Given the description of an element on the screen output the (x, y) to click on. 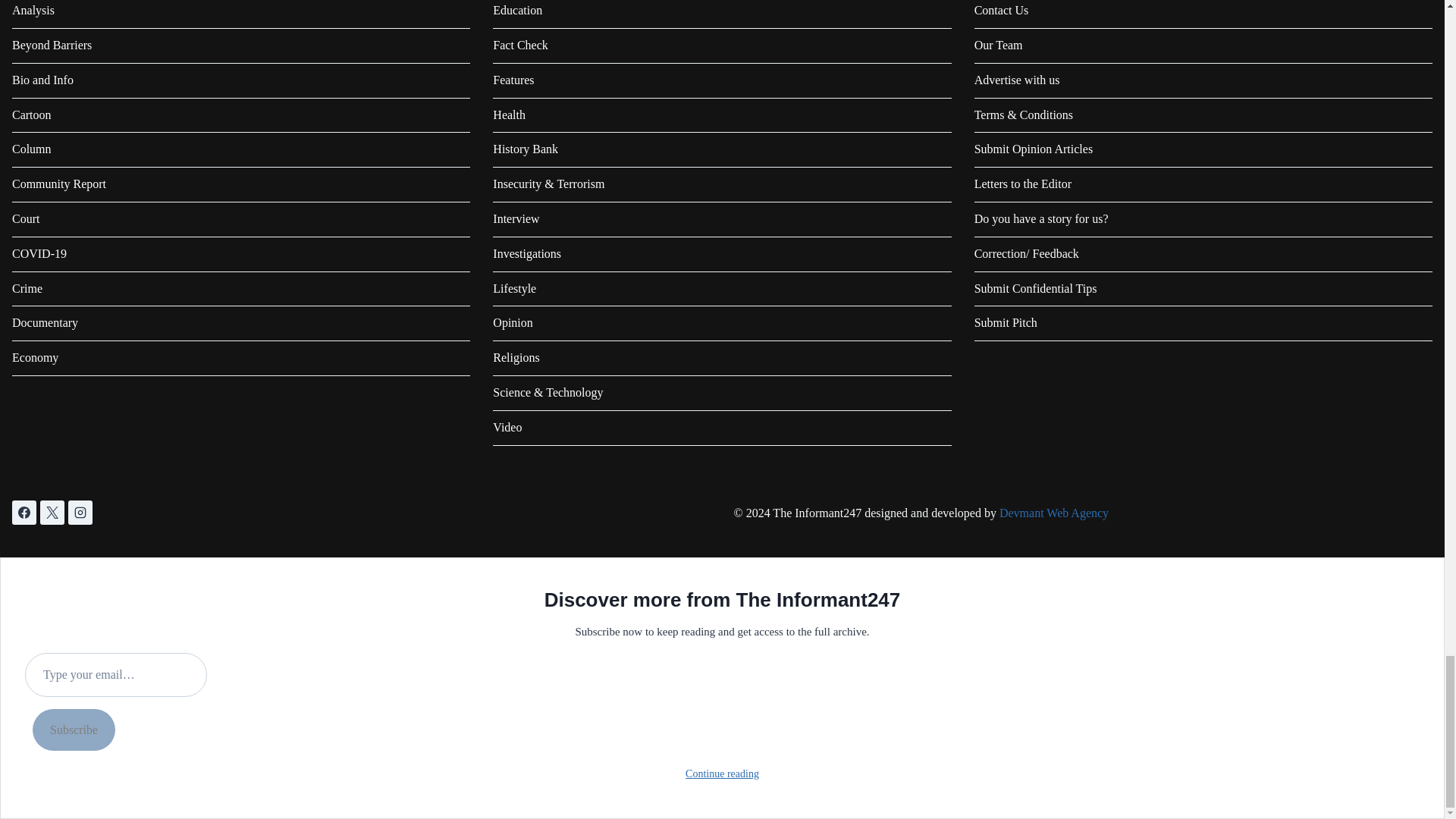
Please fill in this field. (115, 674)
